Given the description of an element on the screen output the (x, y) to click on. 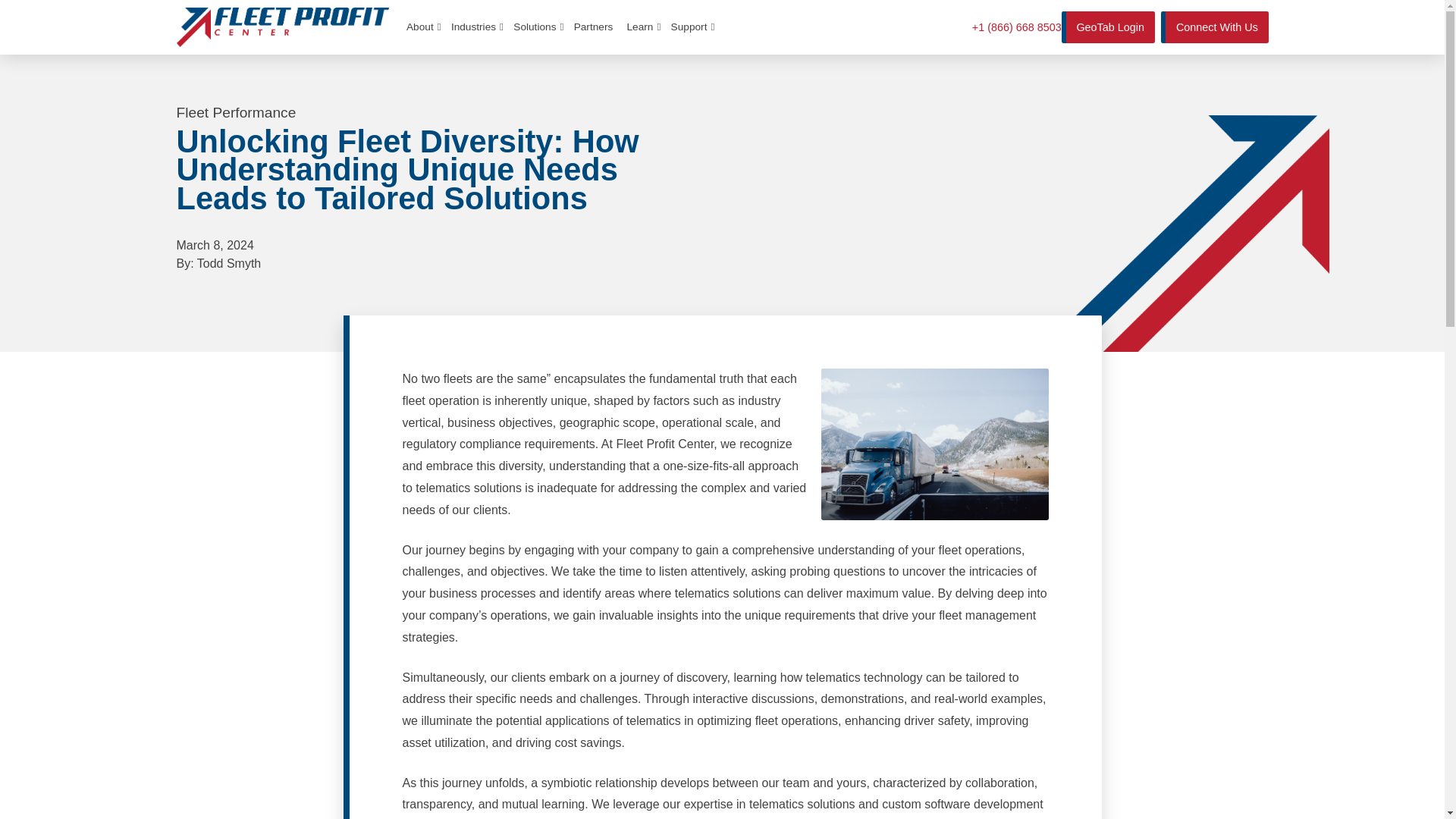
Support (690, 27)
Connect With Us (1214, 27)
GeoTab Login (1107, 27)
Partners (593, 27)
